Given the description of an element on the screen output the (x, y) to click on. 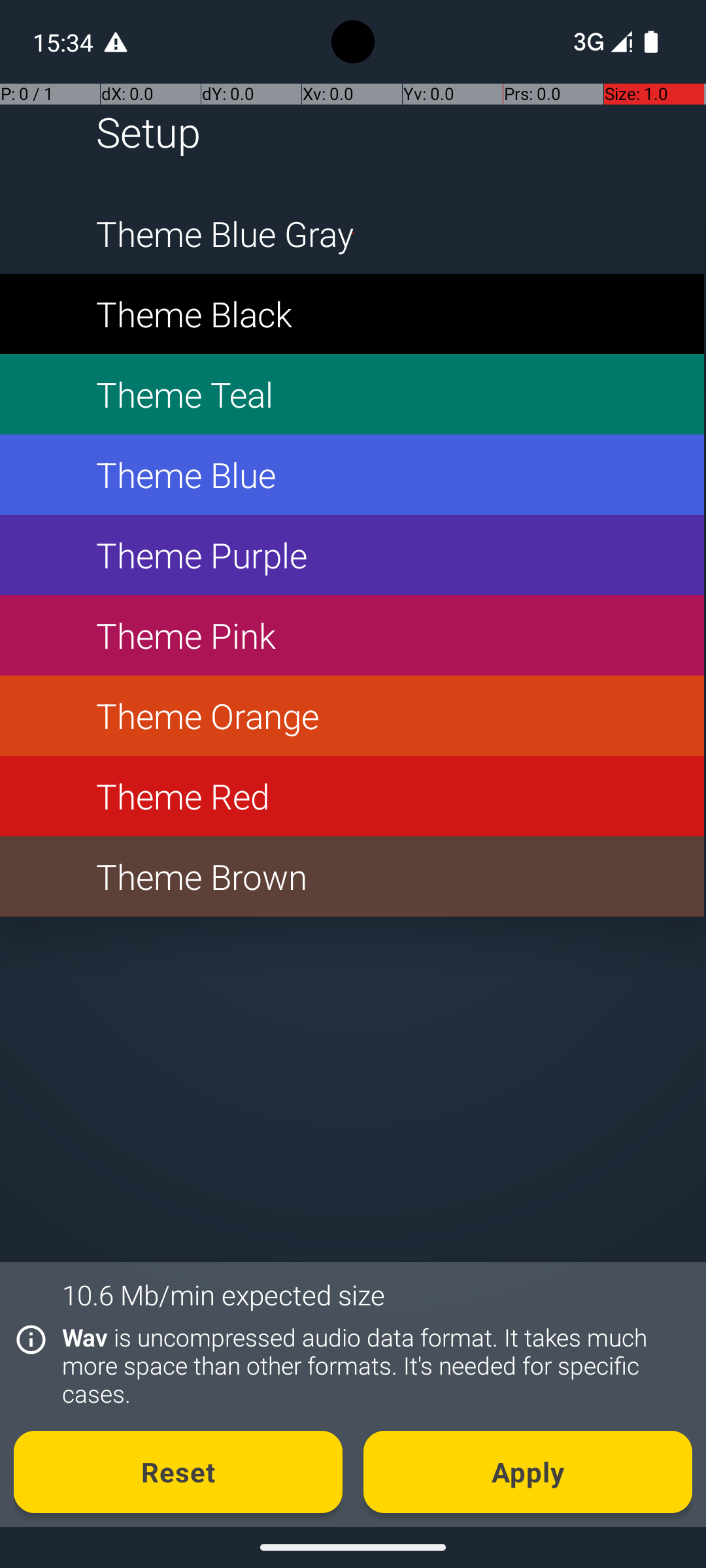
Theme Black Element type: android.widget.TextView (352, 313)
Theme Teal Element type: android.widget.TextView (352, 394)
Theme Blue Element type: android.widget.TextView (352, 474)
Theme Purple Element type: android.widget.TextView (352, 554)
Theme Pink Element type: android.widget.TextView (352, 635)
Theme Orange Element type: android.widget.TextView (352, 715)
Theme Red Element type: android.widget.TextView (352, 795)
Theme Brown Element type: android.widget.TextView (352, 876)
